Given the description of an element on the screen output the (x, y) to click on. 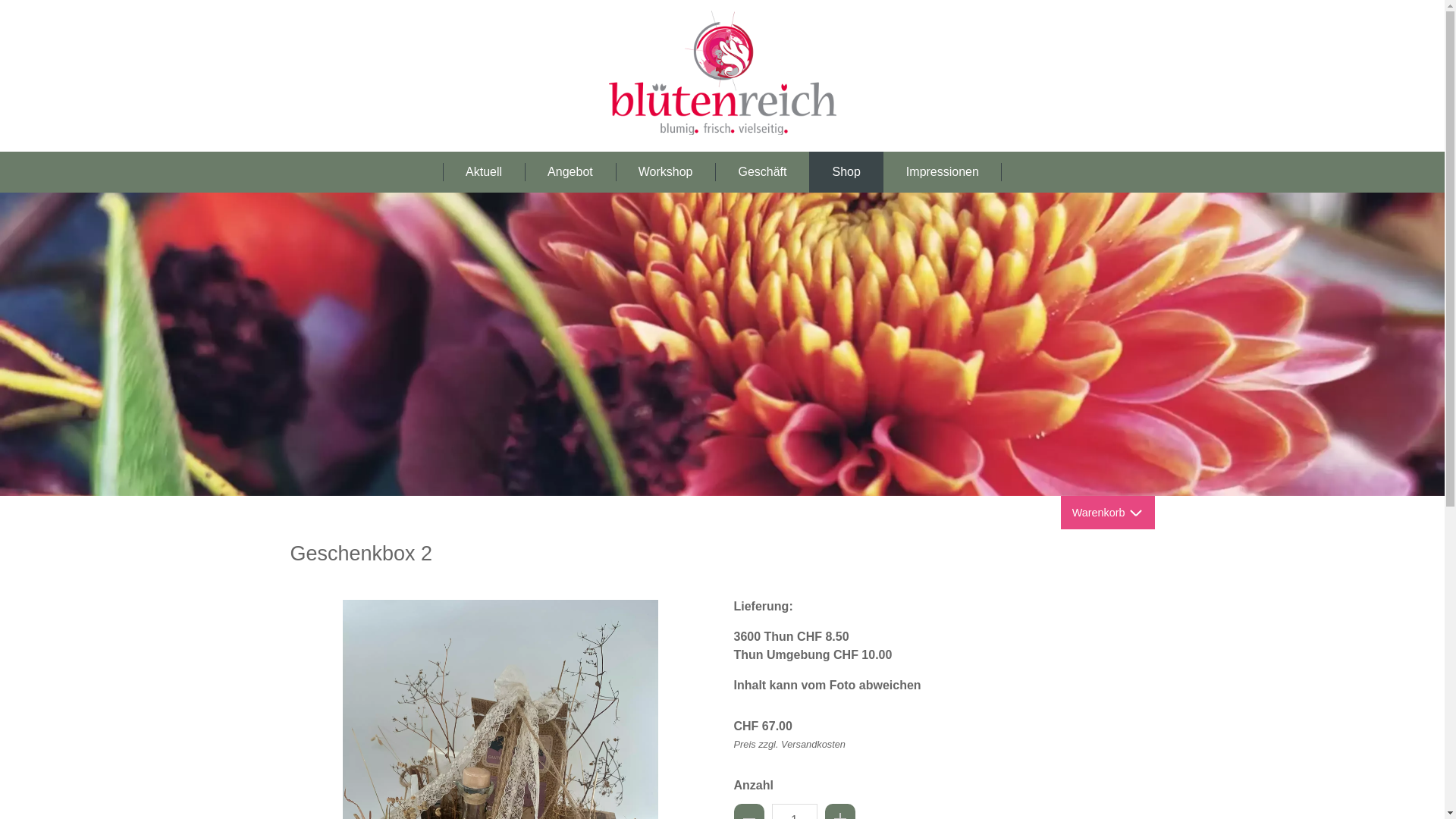
Workshop Element type: text (665, 171)
Aktuell Element type: text (483, 171)
Angebot Element type: text (569, 171)
Impressionen Element type: text (942, 171)
Shop Element type: text (845, 171)
